Given the description of an element on the screen output the (x, y) to click on. 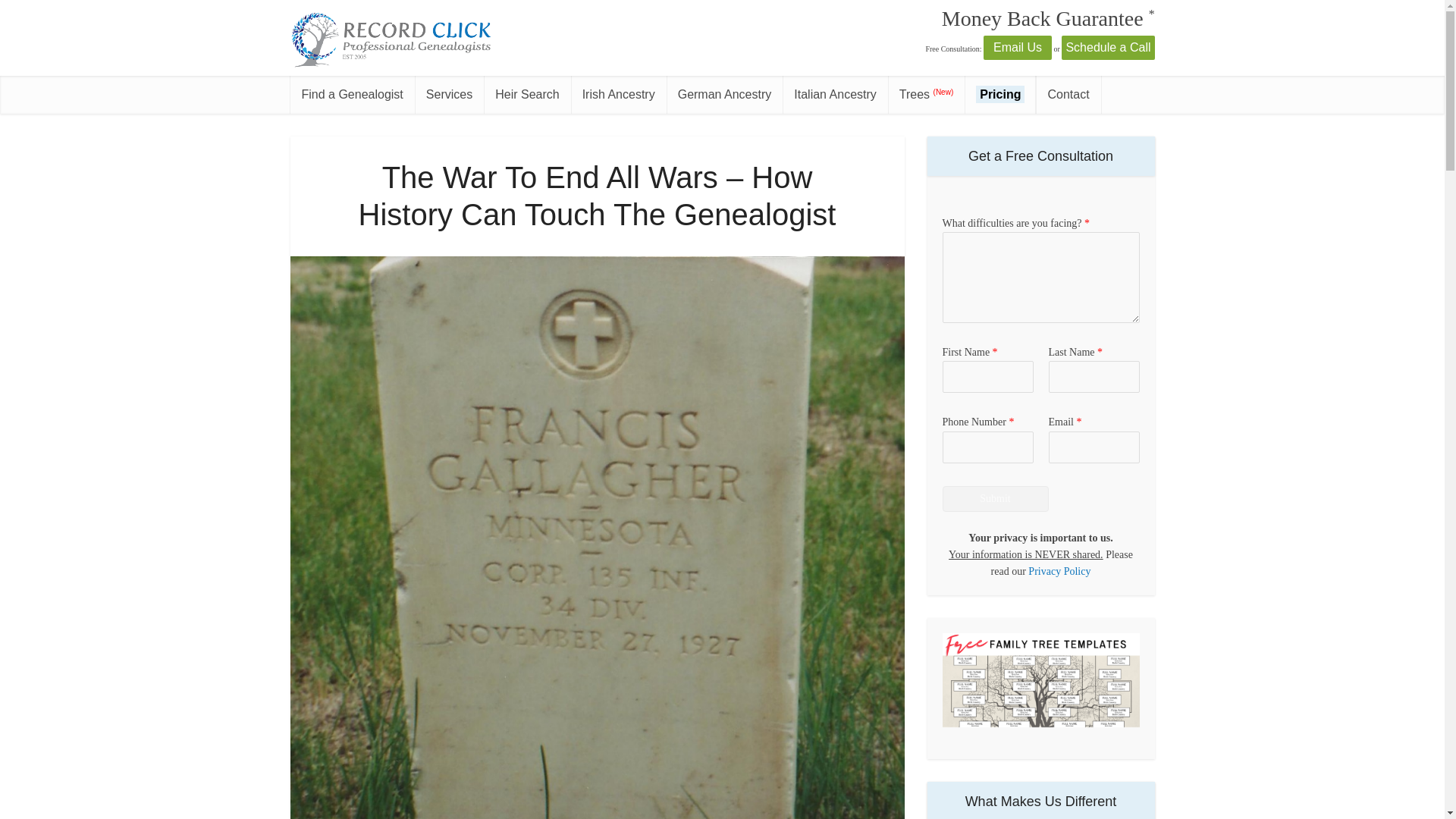
German Ancestry (724, 94)
Email Us (1017, 47)
Irish Ancestry (618, 94)
Email Us (1017, 49)
Pricing (999, 94)
Find a Genealogist (351, 94)
Services (448, 94)
Italian Ancestry (835, 94)
Schedule a Call (1107, 49)
Heir Search (526, 94)
